Given the description of an element on the screen output the (x, y) to click on. 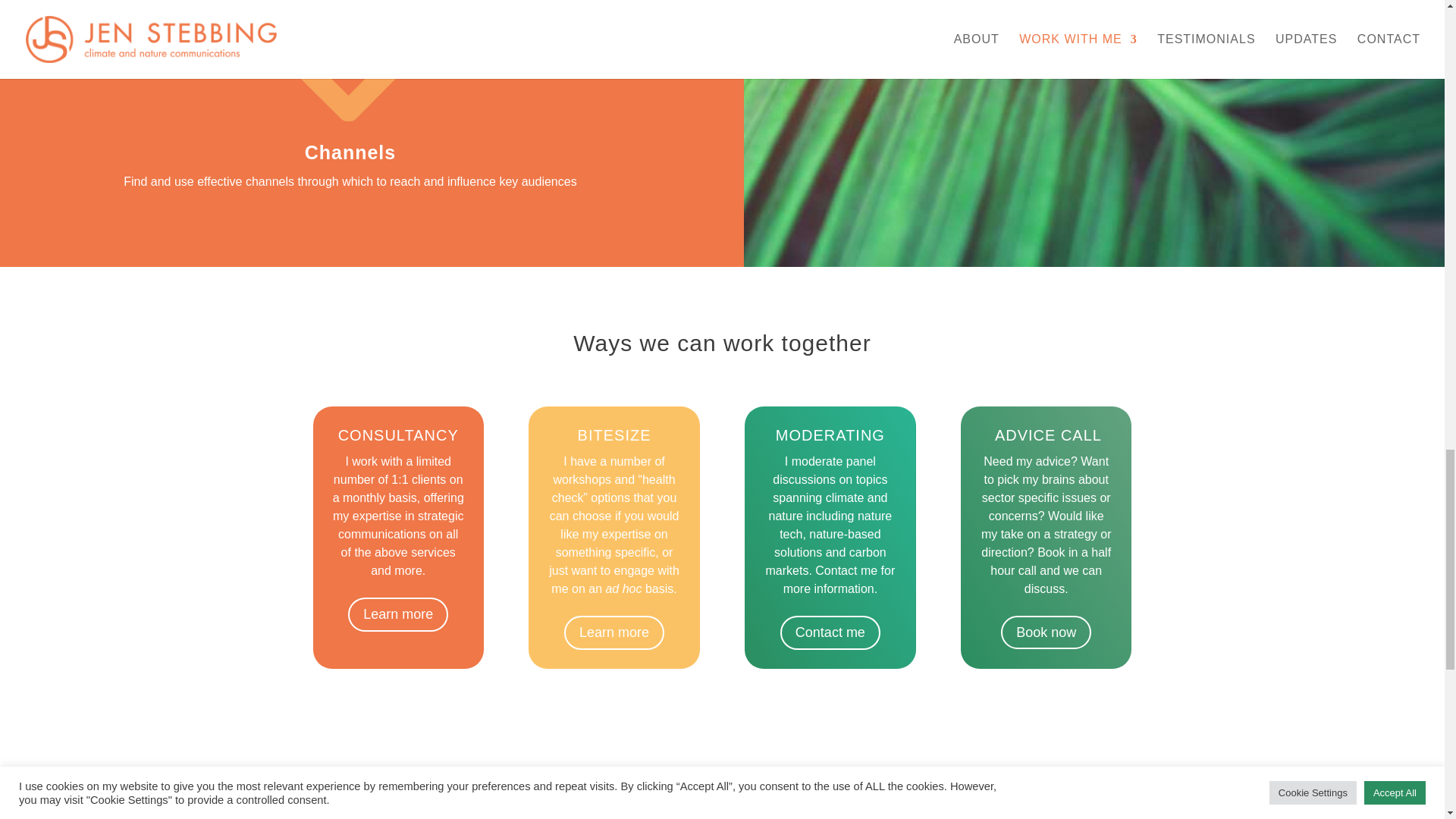
Book now (1045, 632)
Learn more (397, 614)
Learn more (613, 632)
Contact me (830, 632)
